Given the description of an element on the screen output the (x, y) to click on. 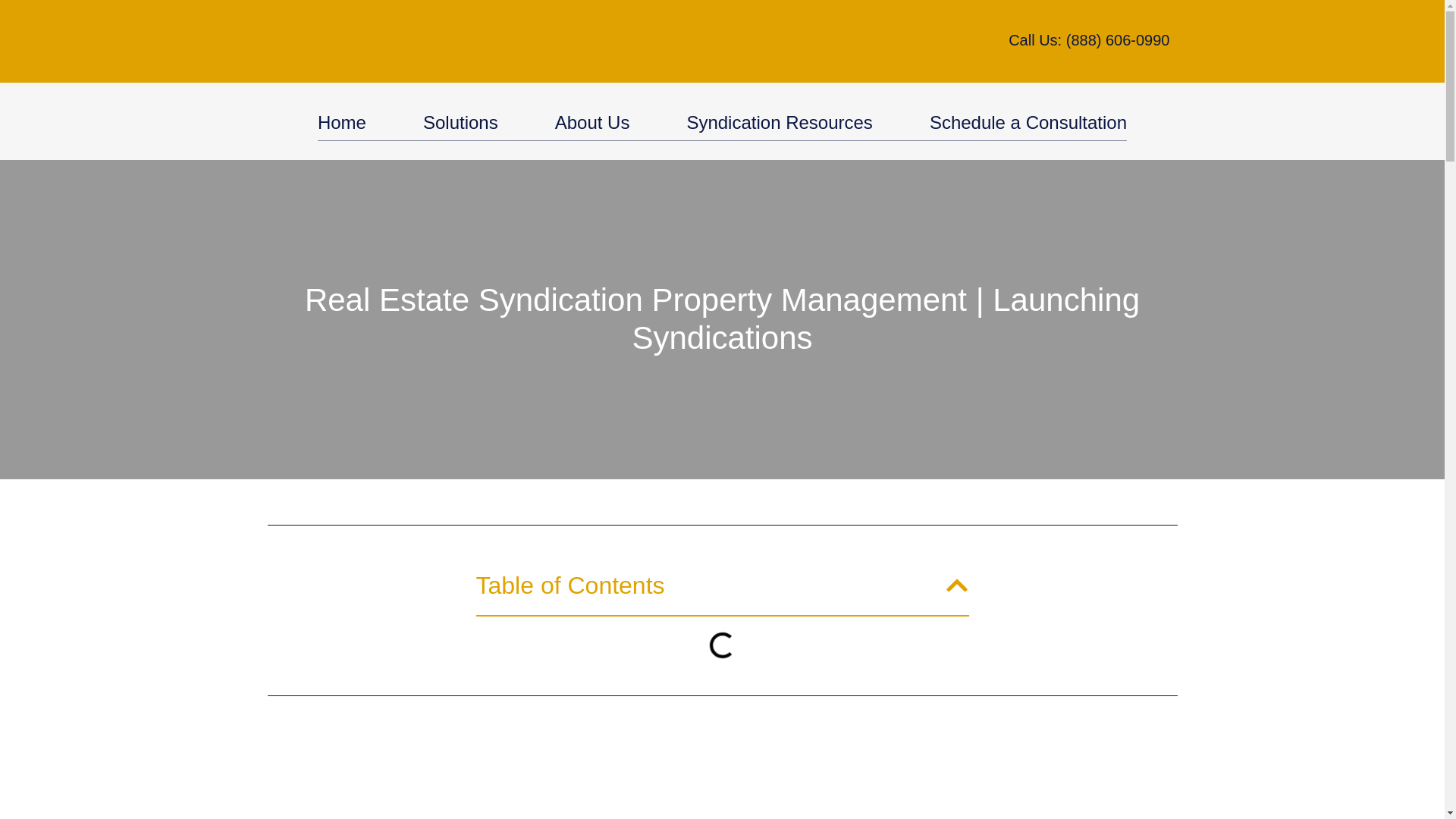
Schedule a Consultation (1028, 122)
Home (341, 122)
YouTube video player (721, 780)
Solutions (460, 122)
Syndication Resources (778, 122)
About Us (592, 122)
